Given the description of an element on the screen output the (x, y) to click on. 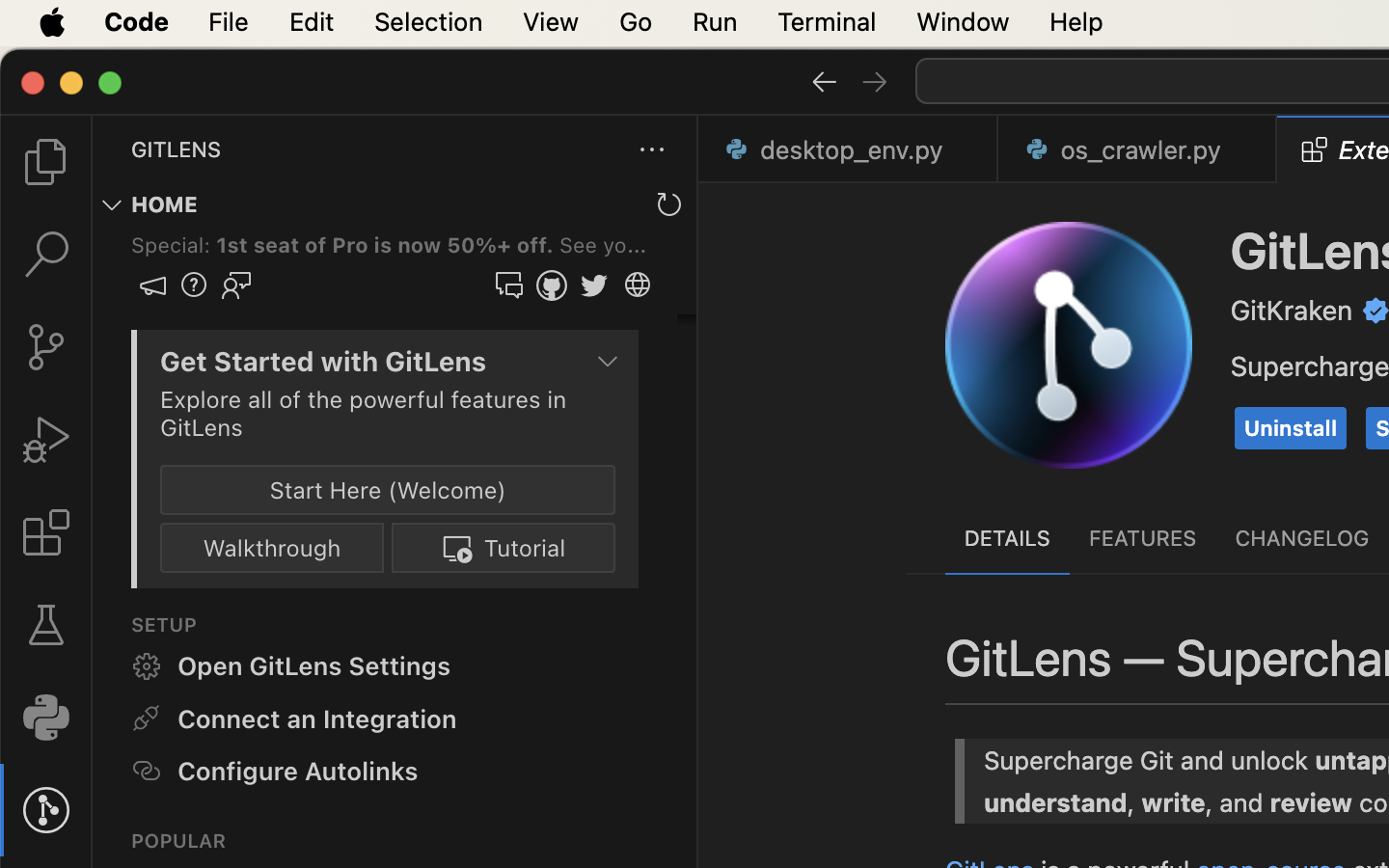
0  Element type: AXRadioButton (46, 346)
0  Element type: AXRadioButton (46, 439)
 Element type: AXButton (824, 80)
0 desktop_env.py   Element type: AXRadioButton (848, 149)
Git Supercharged Element type: AXStaticText (1184, 273)
